Given the description of an element on the screen output the (x, y) to click on. 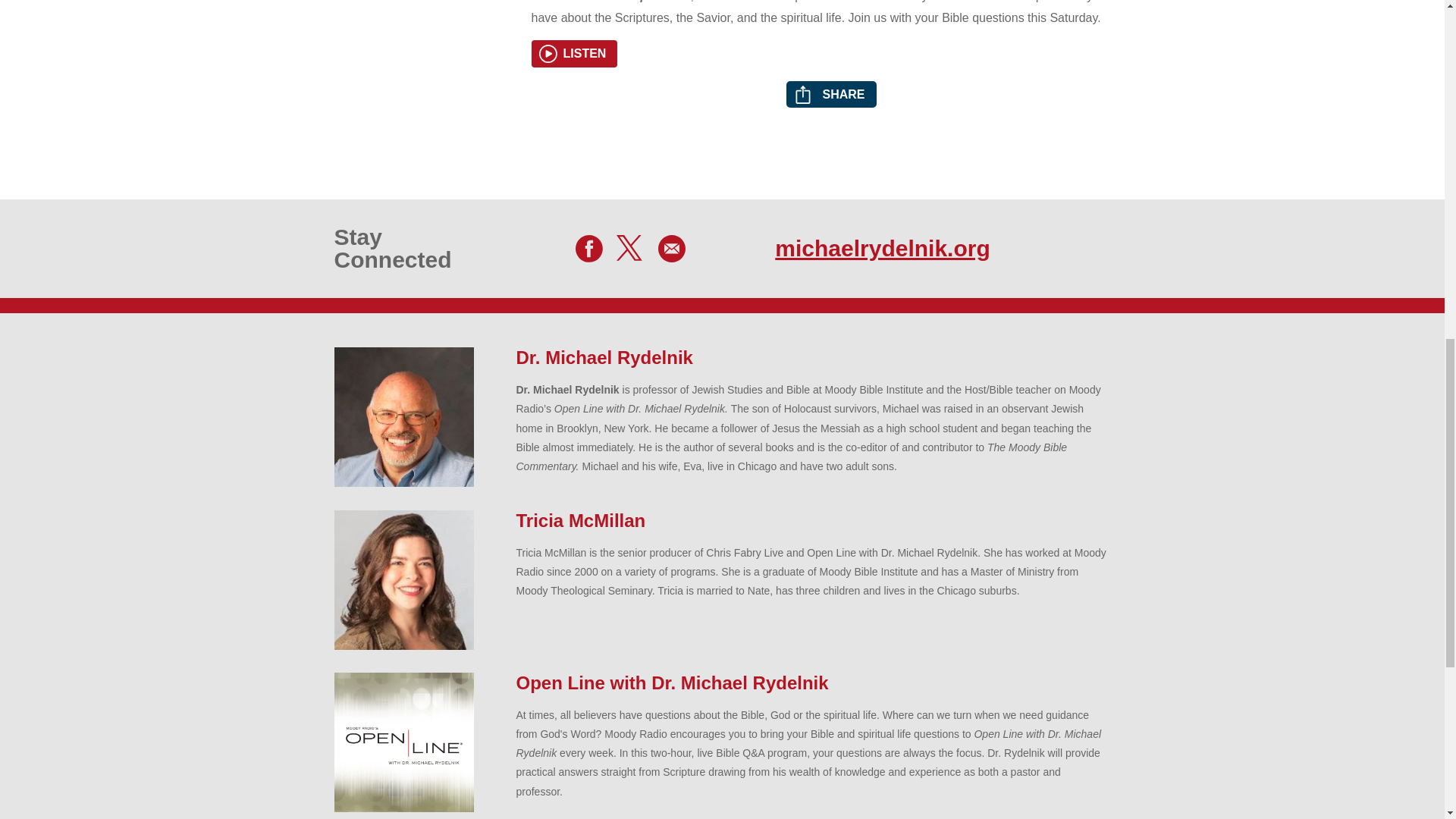
Open Line Email (671, 248)
